Given the description of an element on the screen output the (x, y) to click on. 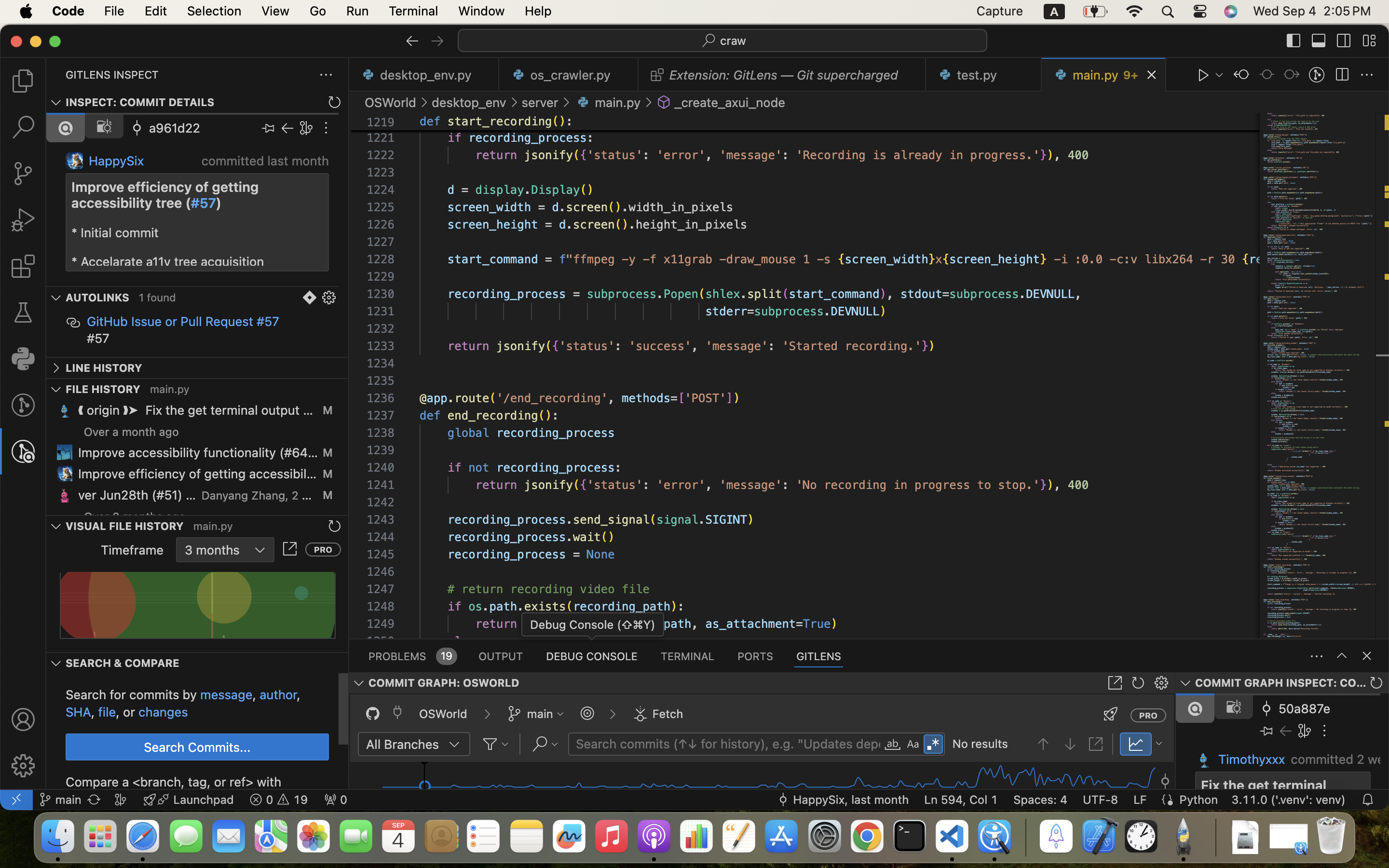
 Element type: AXGroup (23, 404)
0 os_crawler.py   Element type: AXRadioButton (568, 74)
 0 Element type: AXButton (335, 799)
Over a month ago Element type: AXStaticText (131, 431)
 Element type: AXStaticText (1110, 713)
